Given the description of an element on the screen output the (x, y) to click on. 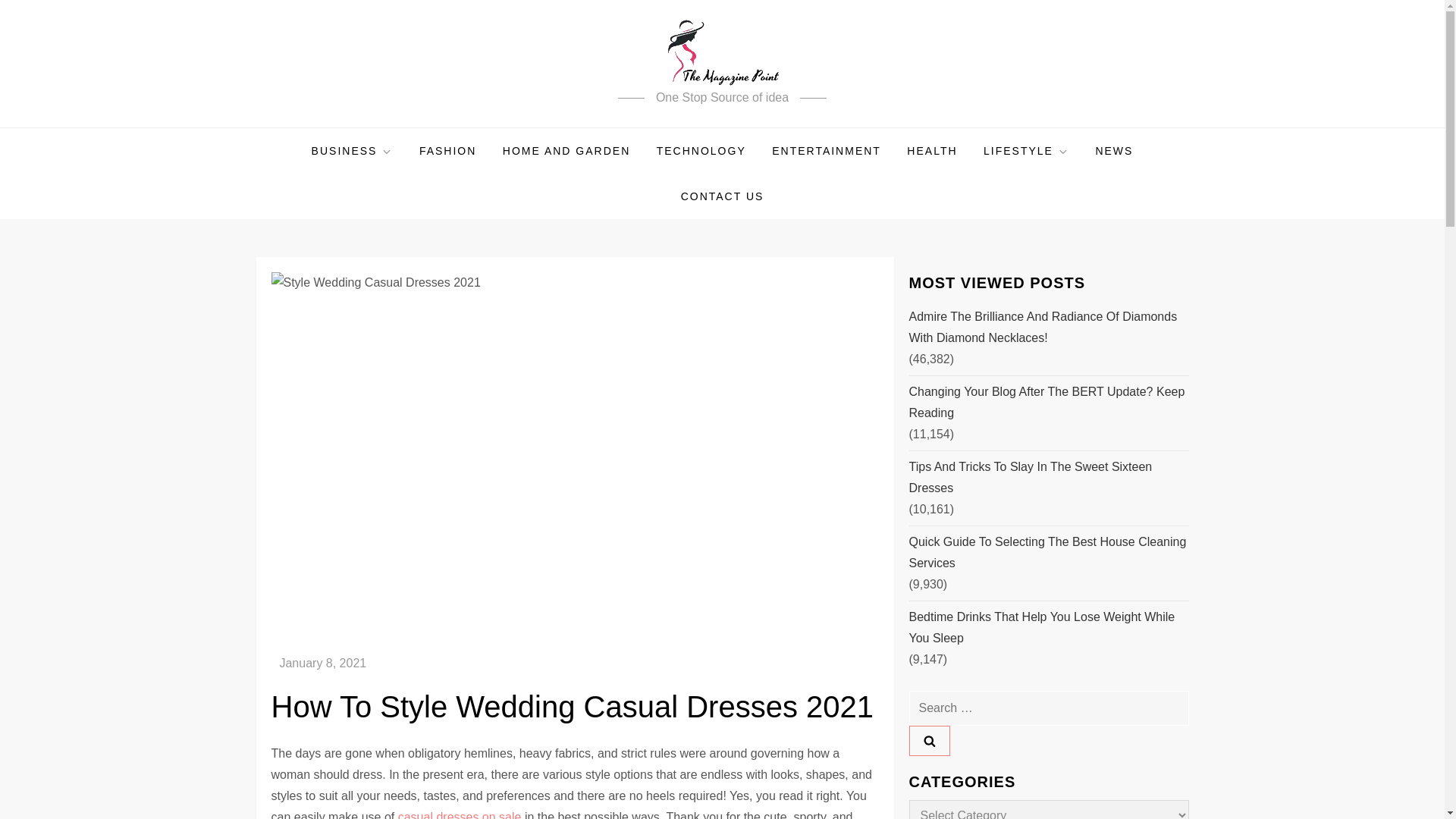
January 8, 2021 (322, 662)
NEWS (1113, 150)
CONTACT US (722, 196)
ENTERTAINMENT (826, 150)
HEALTH (931, 150)
casual dresses on sale (459, 814)
LIFESTYLE (1026, 150)
TECHNOLOGY (701, 150)
BUSINESS (351, 150)
HOME AND GARDEN (567, 150)
FASHION (447, 150)
